Given the description of an element on the screen output the (x, y) to click on. 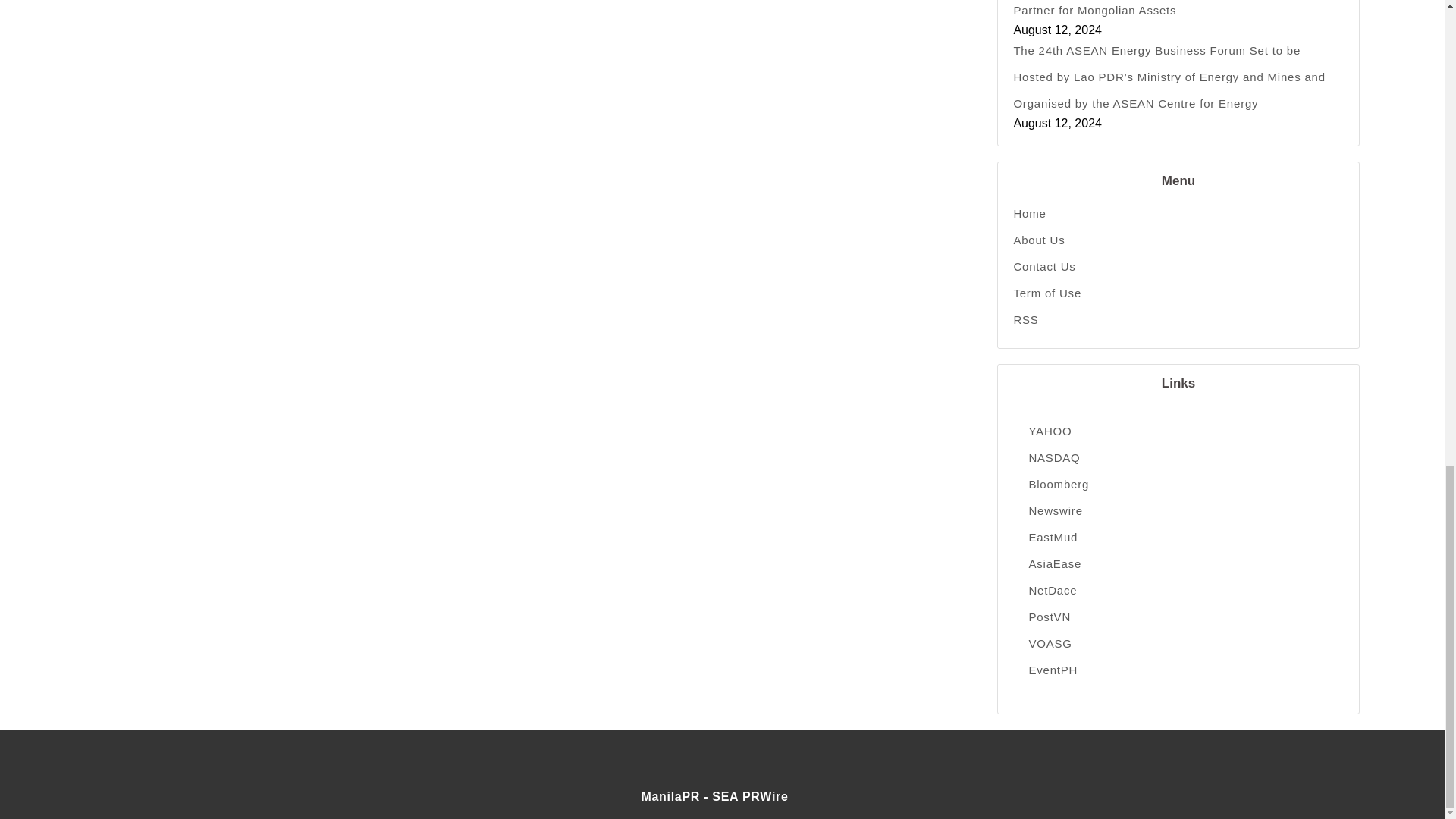
About Us (1177, 239)
Home (1177, 212)
